Given the description of an element on the screen output the (x, y) to click on. 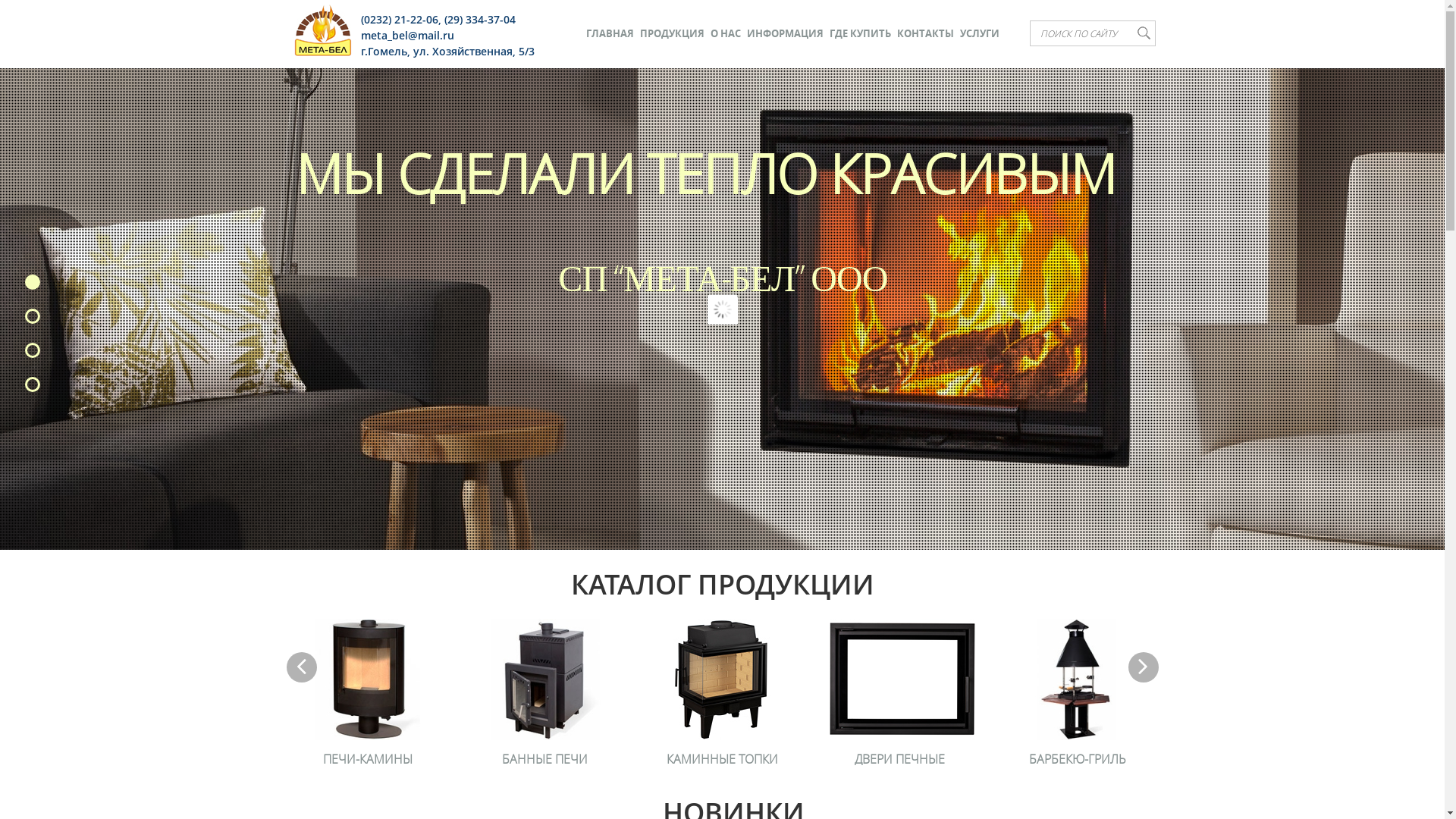
meta_bel@mail.ru Element type: text (407, 35)
(0232) 21-22-06 Element type: text (399, 19)
(29) 334-37-04 Element type: text (479, 19)
